Given the description of an element on the screen output the (x, y) to click on. 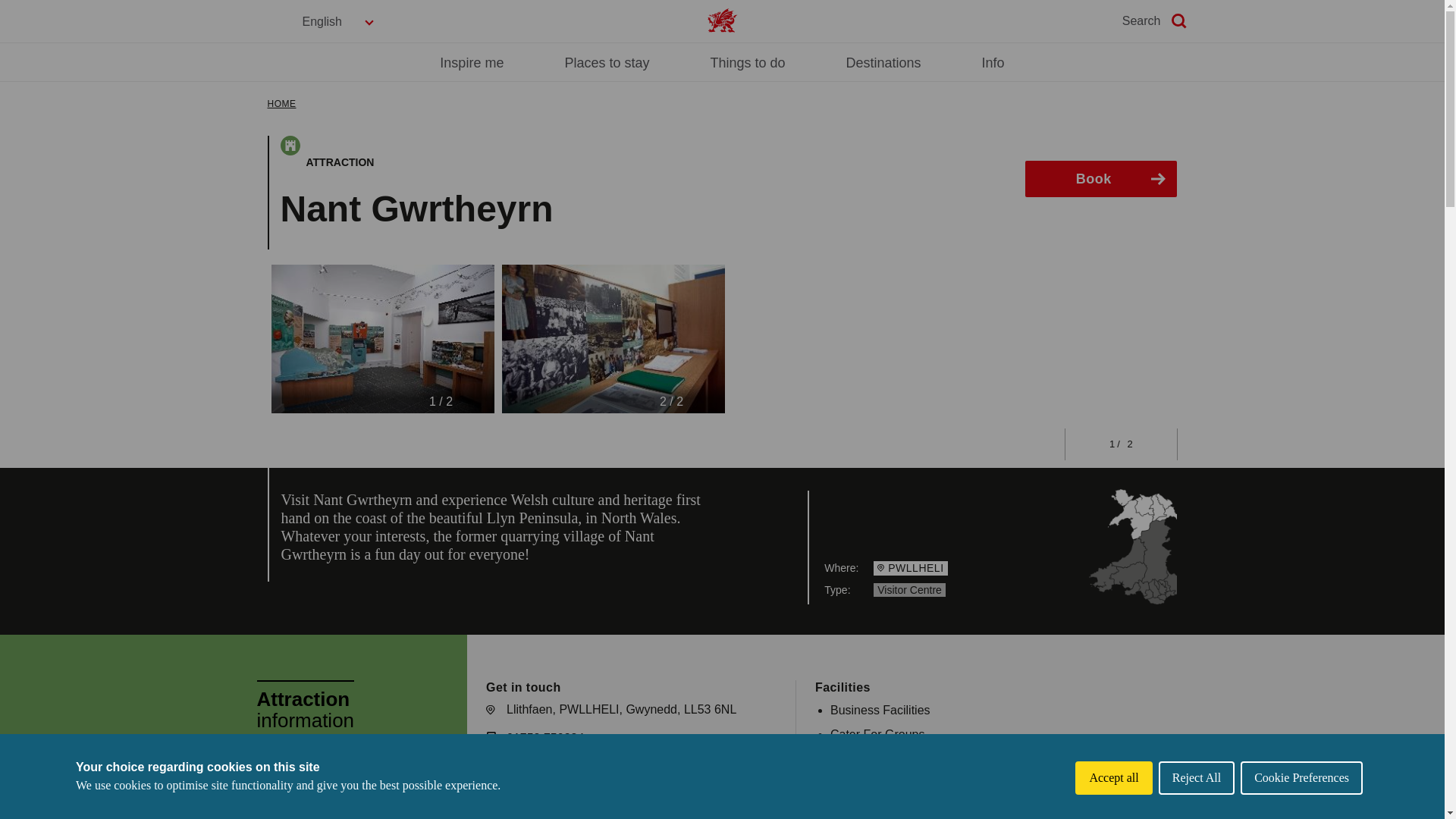
Book (1100, 178)
Reject All (1196, 777)
Things to do (747, 62)
Accept all (1113, 777)
Inspire me (471, 62)
01758 750334 (544, 738)
Search (1156, 21)
HOME (280, 103)
Homepage (721, 20)
Destinations (883, 62)
PWLLHELI (910, 567)
Cookie Preferences (1301, 777)
Places to stay (606, 62)
Visitor Centre (908, 590)
